Given the description of an element on the screen output the (x, y) to click on. 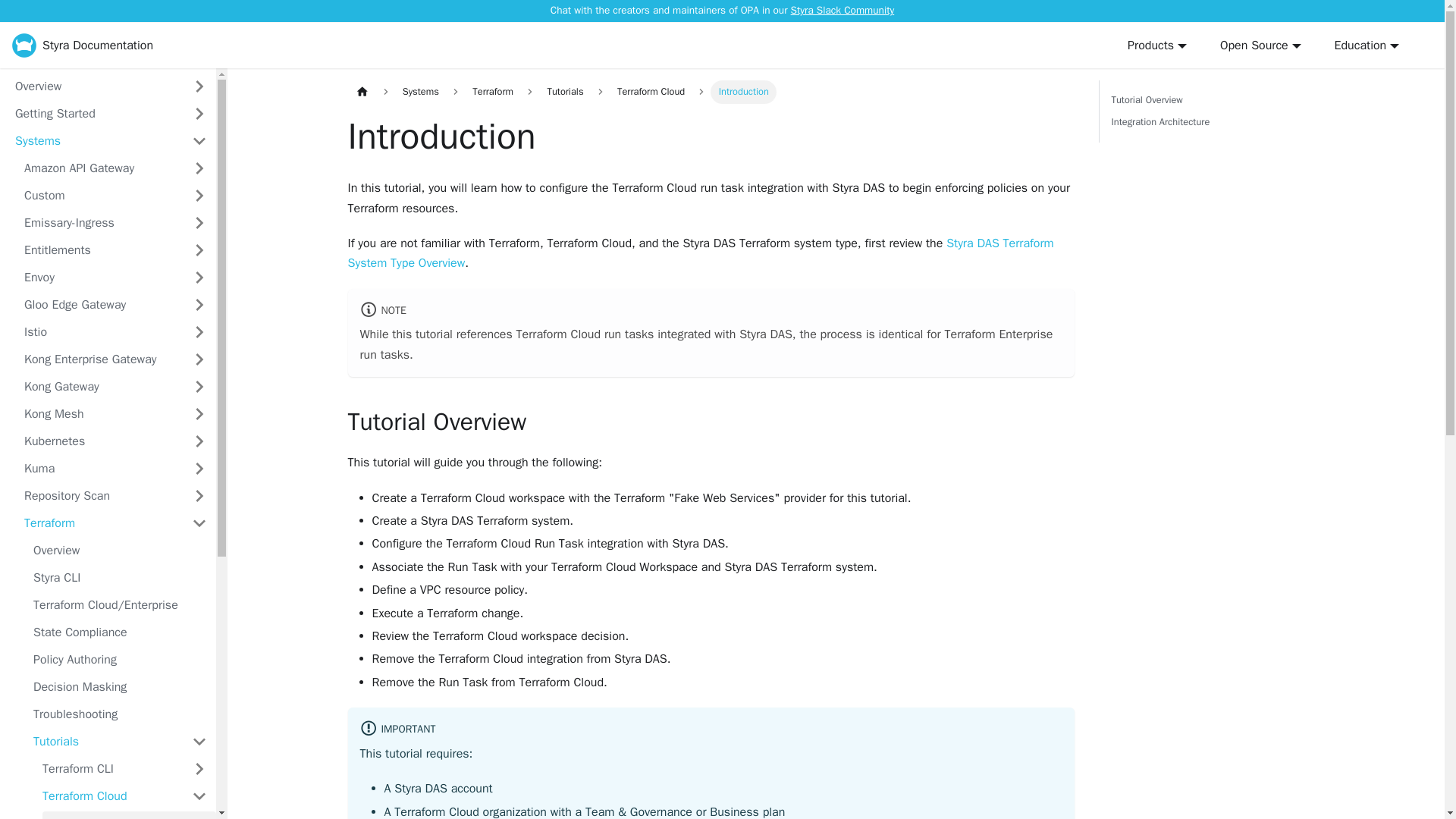
Envoy (98, 277)
Getting Started (94, 113)
Education (1367, 45)
Open Source (1260, 45)
Styra Documentation (81, 45)
Gloo Edge Gateway (98, 304)
Entitlements (98, 250)
Systems (94, 140)
Istio (98, 331)
Custom (98, 195)
